Given the description of an element on the screen output the (x, y) to click on. 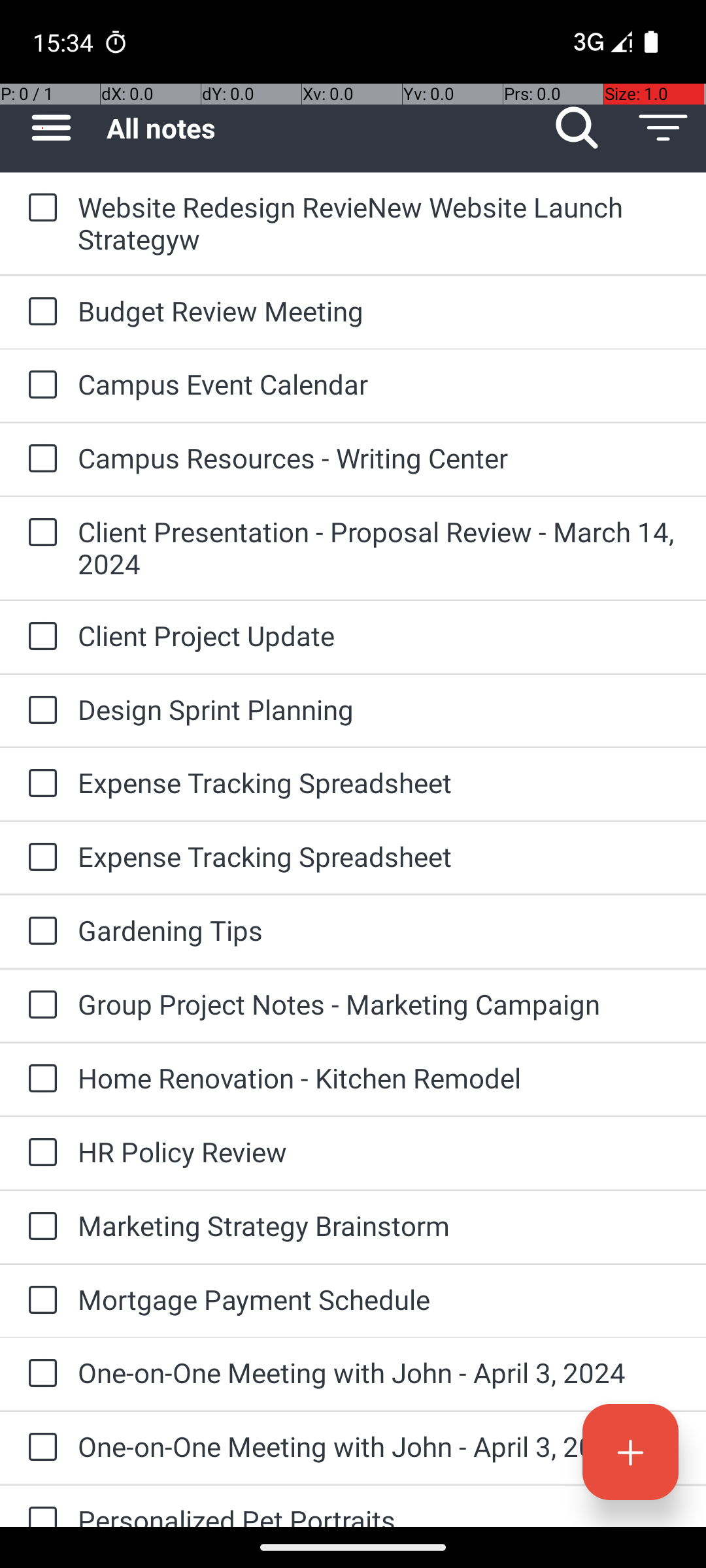
to-do: Website Redesign RevieNew Website Launch Strategyw Element type: android.widget.CheckBox (38, 208)
Website Redesign RevieNew Website Launch Strategyw Element type: android.widget.TextView (378, 222)
to-do: Client Presentation - Proposal Review - March 14, 2024 Element type: android.widget.CheckBox (38, 533)
Client Presentation - Proposal Review - March 14, 2024 Element type: android.widget.TextView (378, 547)
to-do: Personalized Pet Portraits Element type: android.widget.CheckBox (38, 1505)
